Given the description of an element on the screen output the (x, y) to click on. 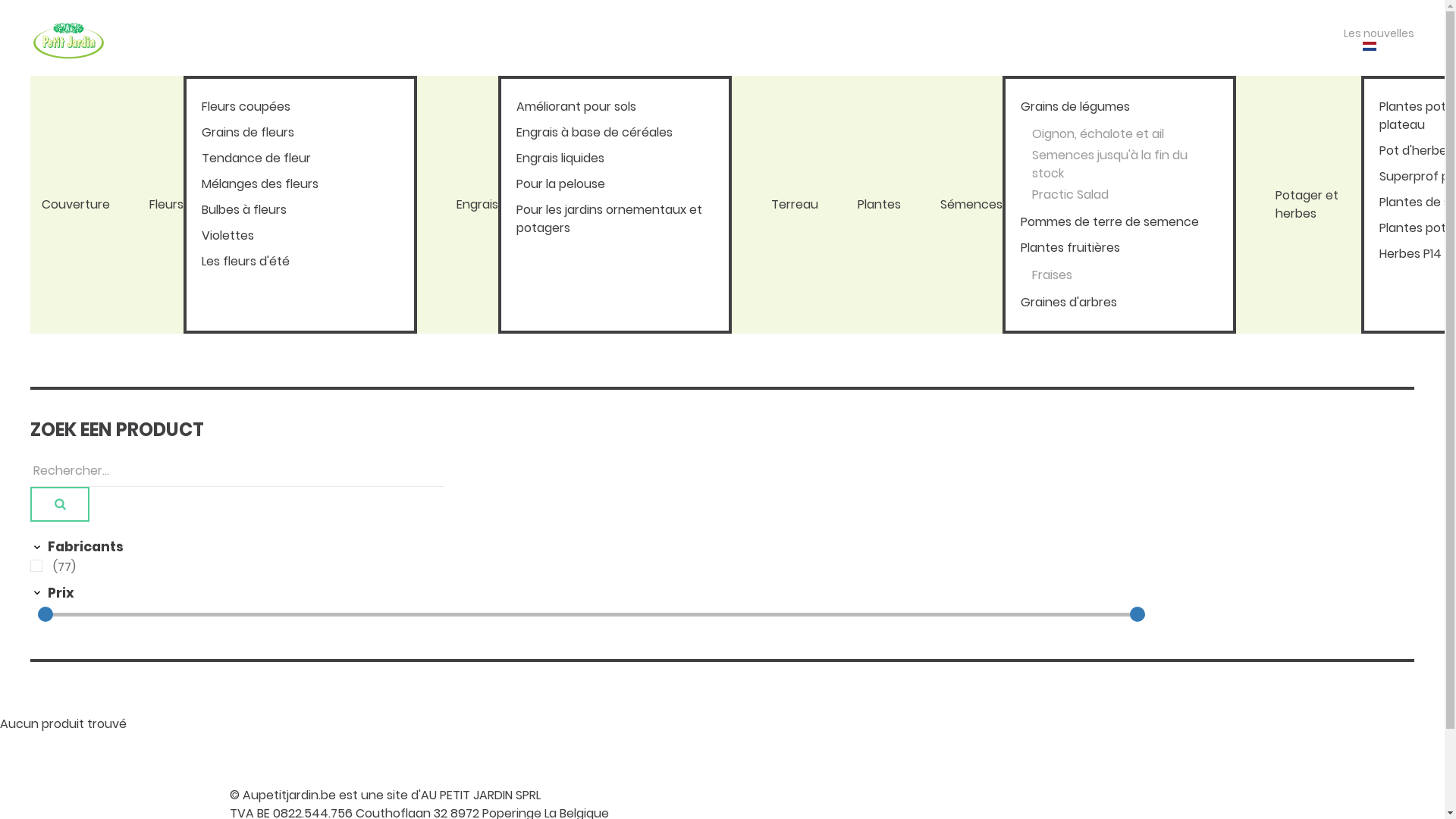
Pour la pelouse Element type: text (614, 184)
Fraises Element type: text (1124, 274)
Plantes Element type: text (878, 204)
Nederlands nl-NL Element type: hover (1369, 45)
Engrais liquides Element type: text (614, 158)
Engrais Element type: text (477, 204)
Violettes Element type: text (299, 235)
Pommes de terre de semence Element type: text (1118, 222)
Pour les jardins ornementaux et potagers Element type: text (614, 219)
Les nouvelles Element type: text (1378, 33)
Tendance de fleur Element type: text (299, 158)
Practic Salad Element type: text (1124, 194)
Couverture Element type: text (75, 204)
Graines d'arbres Element type: text (1118, 302)
Potager et herbes Element type: text (1318, 204)
Terreau Element type: text (794, 204)
Fleurs Element type: text (166, 204)
Grains de fleurs Element type: text (299, 132)
